Given the description of an element on the screen output the (x, y) to click on. 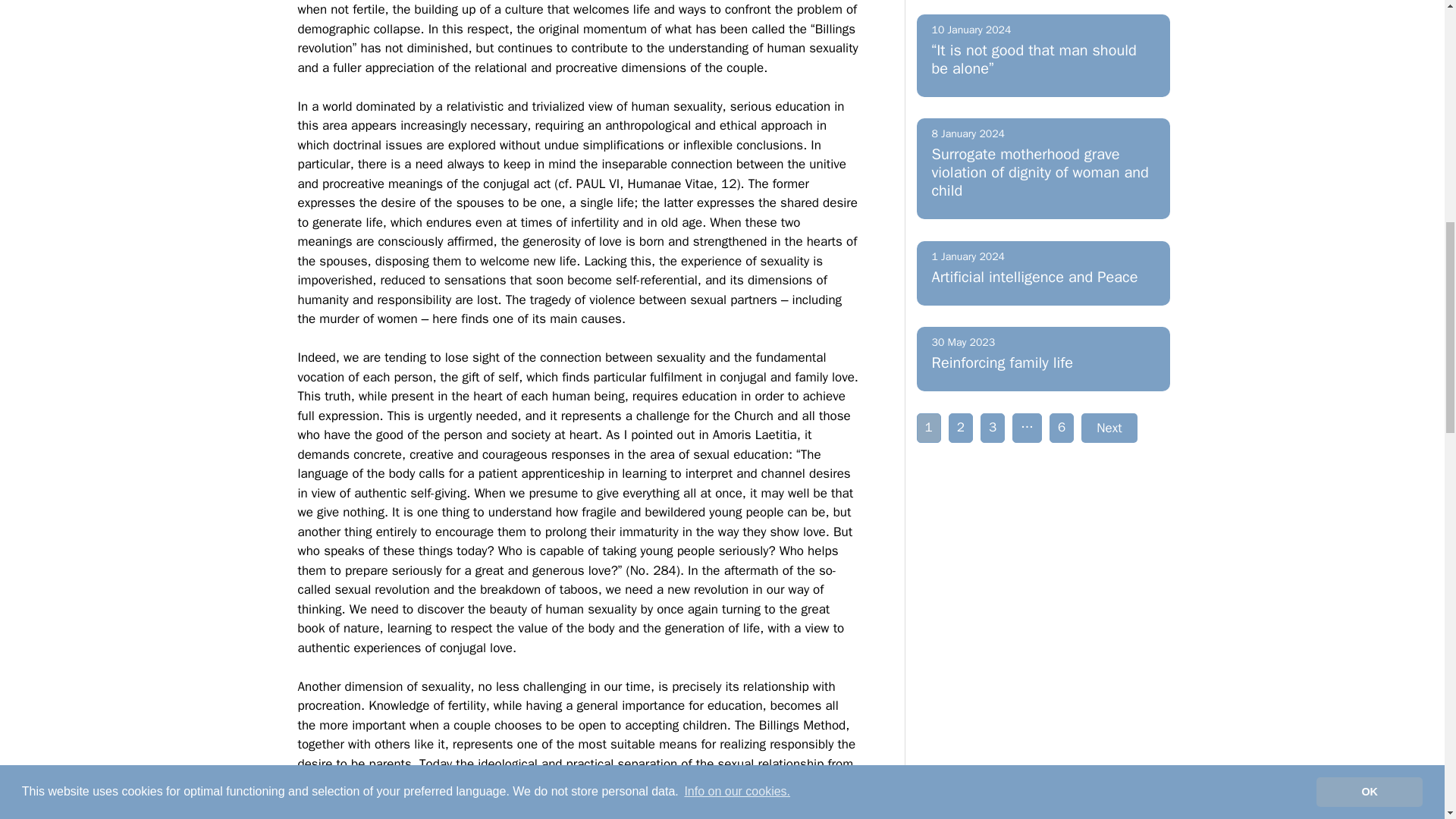
Scroll back to top (1406, 720)
